Given the description of an element on the screen output the (x, y) to click on. 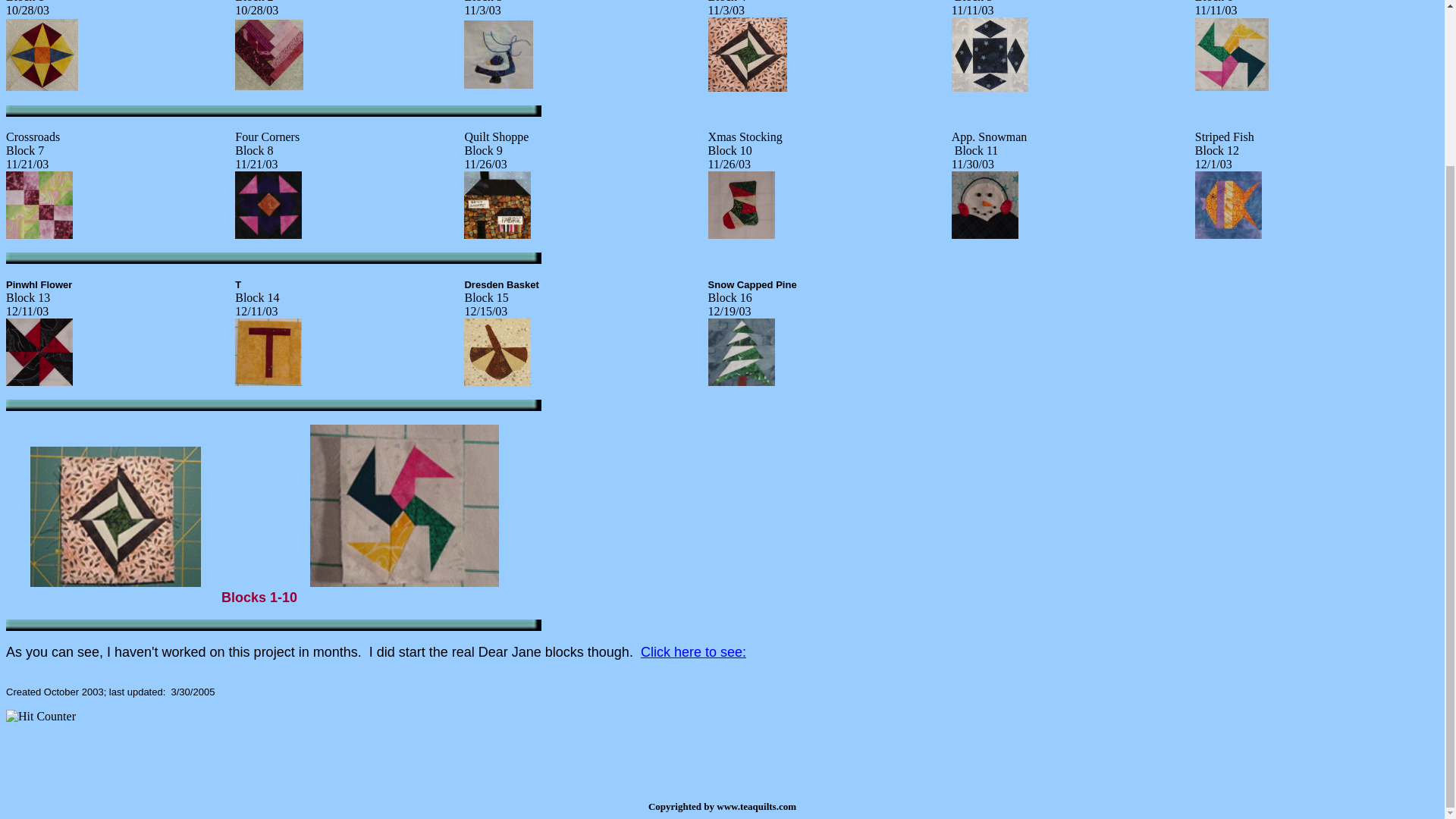
Click here to see: (692, 652)
